Given the description of an element on the screen output the (x, y) to click on. 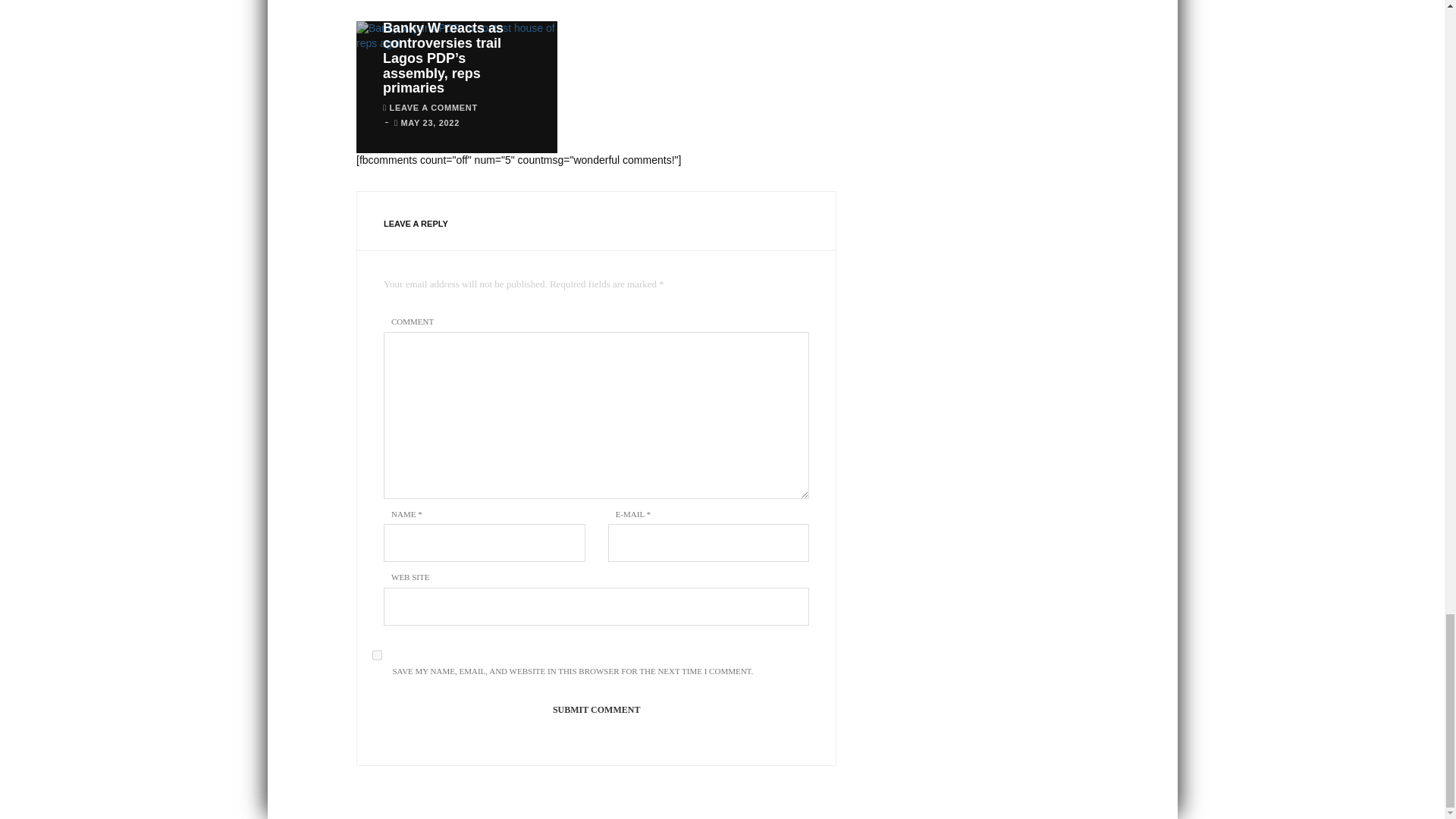
Submit Comment (596, 710)
yes (376, 655)
